Given the description of an element on the screen output the (x, y) to click on. 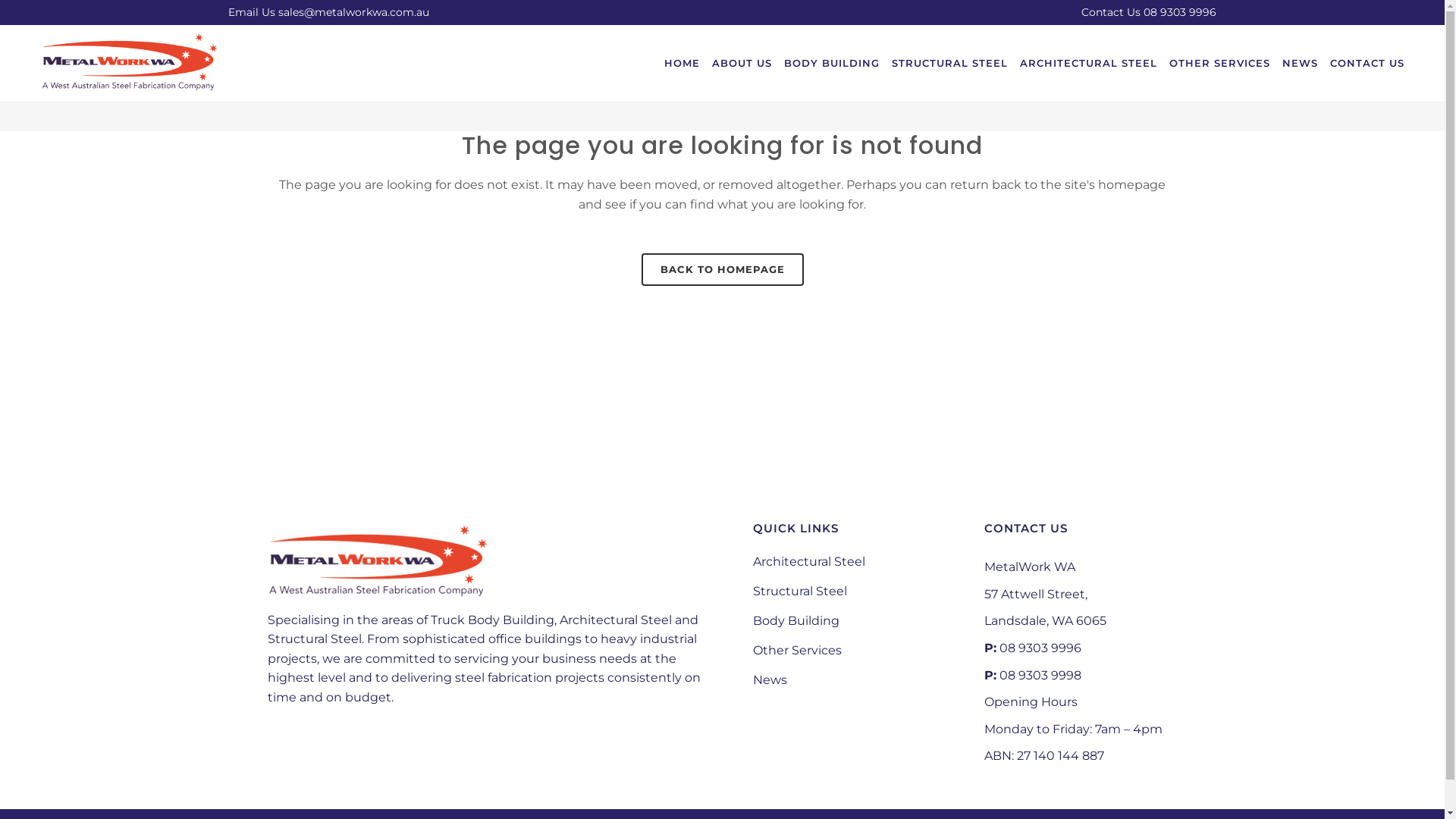
STRUCTURAL STEEL Element type: text (949, 62)
ABOUT US Element type: text (741, 62)
HOME Element type: text (681, 62)
Structural Steel Element type: text (854, 591)
Other Services Element type: text (854, 650)
Email Us sales@metalworkwa.com.au Element type: text (328, 11)
Contact Us 08 9303 9996 Element type: text (1148, 11)
BODY BUILDING Element type: text (831, 62)
08 9303 9998 Element type: text (1040, 675)
08 9303 9996 Element type: text (1040, 647)
News Element type: text (854, 679)
ARCHITECTURAL STEEL Element type: text (1088, 62)
NEWS Element type: text (1299, 62)
BACK TO HOMEPAGE Element type: text (722, 269)
CONTACT US Element type: text (1367, 62)
Body Building Element type: text (854, 620)
Architectural Steel Element type: text (854, 561)
OTHER SERVICES Element type: text (1219, 62)
